Given the description of an element on the screen output the (x, y) to click on. 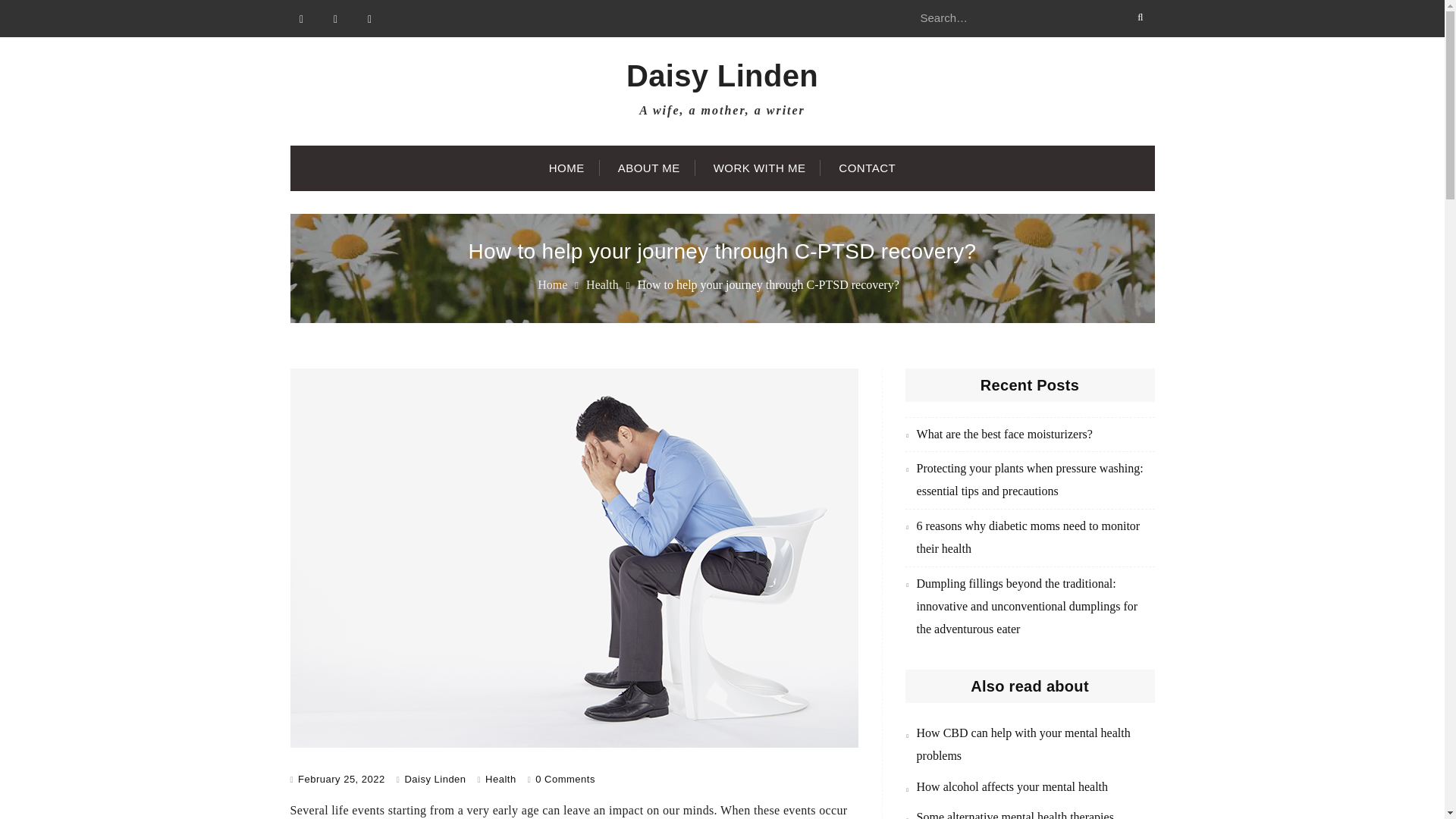
CONTACT (867, 168)
February 25, 2022 (341, 778)
WORK WITH ME (759, 168)
Home (552, 284)
HOME (566, 168)
Daisy Linden (722, 75)
ABOUT ME (648, 168)
Twitter (335, 18)
Instagram (369, 18)
0 Comments (565, 778)
Facebook (301, 18)
Search for: (1029, 18)
Health (500, 778)
Daisy Linden (434, 778)
Health (602, 284)
